Given the description of an element on the screen output the (x, y) to click on. 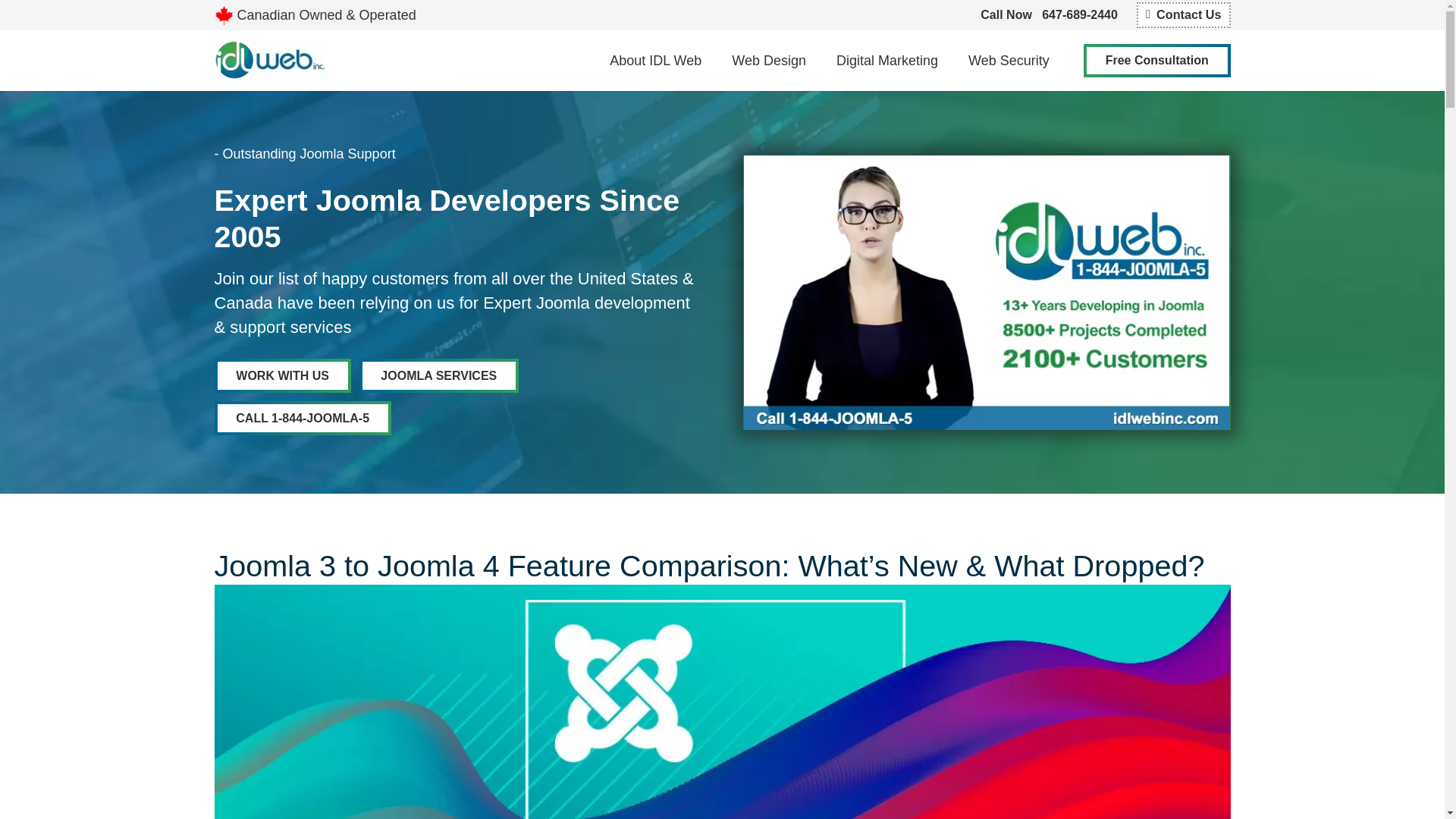
Free Consultation (1156, 60)
Contact Us (1183, 14)
CALL 1-844-JOOMLA-5 (302, 417)
647-689-2440 (1080, 14)
Web Design (768, 60)
Digital Marketing (887, 60)
WORK WITH US (282, 375)
About IDL Web (655, 60)
JOOMLA SERVICES (439, 375)
Web Security (1008, 60)
